Given the description of an element on the screen output the (x, y) to click on. 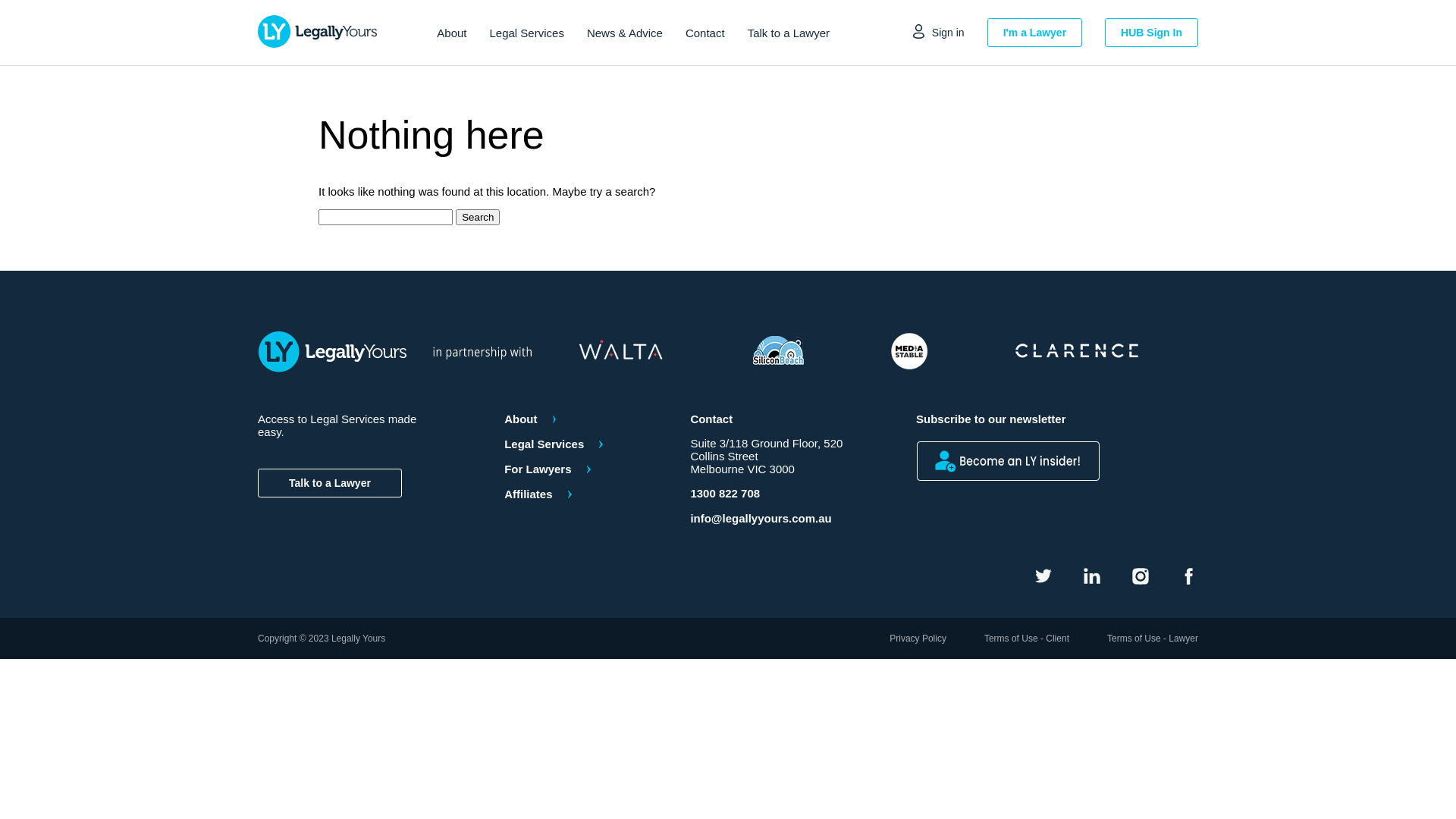
Talk to a Lawyer Element type: text (329, 482)
info@legallyyours.com.au Element type: text (782, 517)
Privacy Policy Element type: text (917, 638)
Affiliates Element type: text (581, 493)
Terms of Use - Lawyer Element type: text (1152, 638)
I'm a Lawyer Element type: text (1034, 32)
Legal Services Element type: text (581, 443)
Search Element type: text (477, 217)
For Lawyers Element type: text (581, 468)
Contact Element type: text (704, 31)
About Element type: text (581, 418)
About Element type: text (451, 31)
1300 822 708 Element type: text (782, 492)
Sign in Element type: text (938, 32)
News & Advice Element type: text (624, 31)
Talk to a Lawyer Element type: text (788, 31)
Terms of Use - Client Element type: text (1026, 638)
Legal Services Element type: text (526, 31)
Become an LY Insider Element type: hover (1010, 463)
HUB Sign In Element type: text (1151, 32)
